Given the description of an element on the screen output the (x, y) to click on. 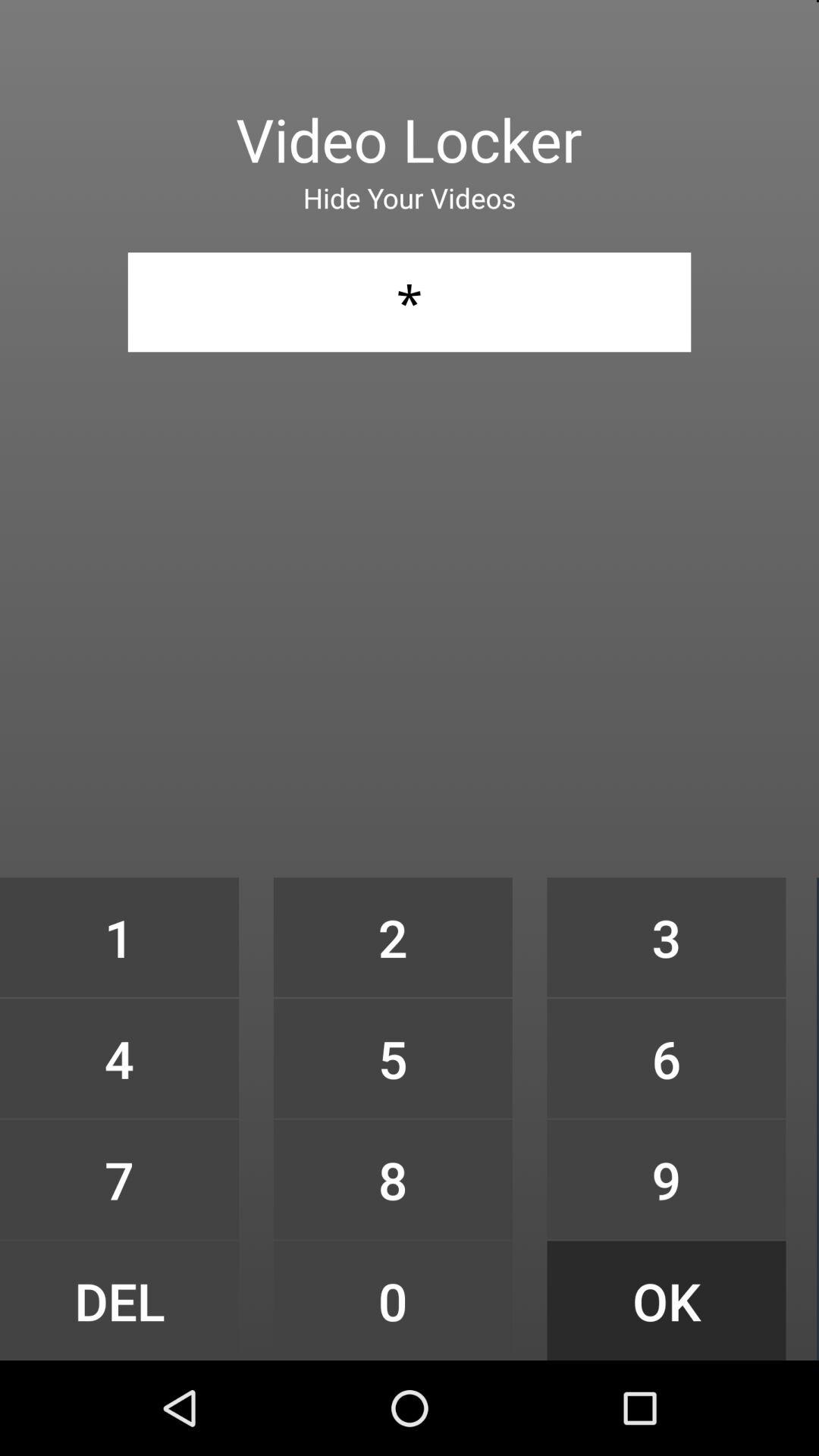
click icon to the left of 3 icon (392, 1058)
